Given the description of an element on the screen output the (x, y) to click on. 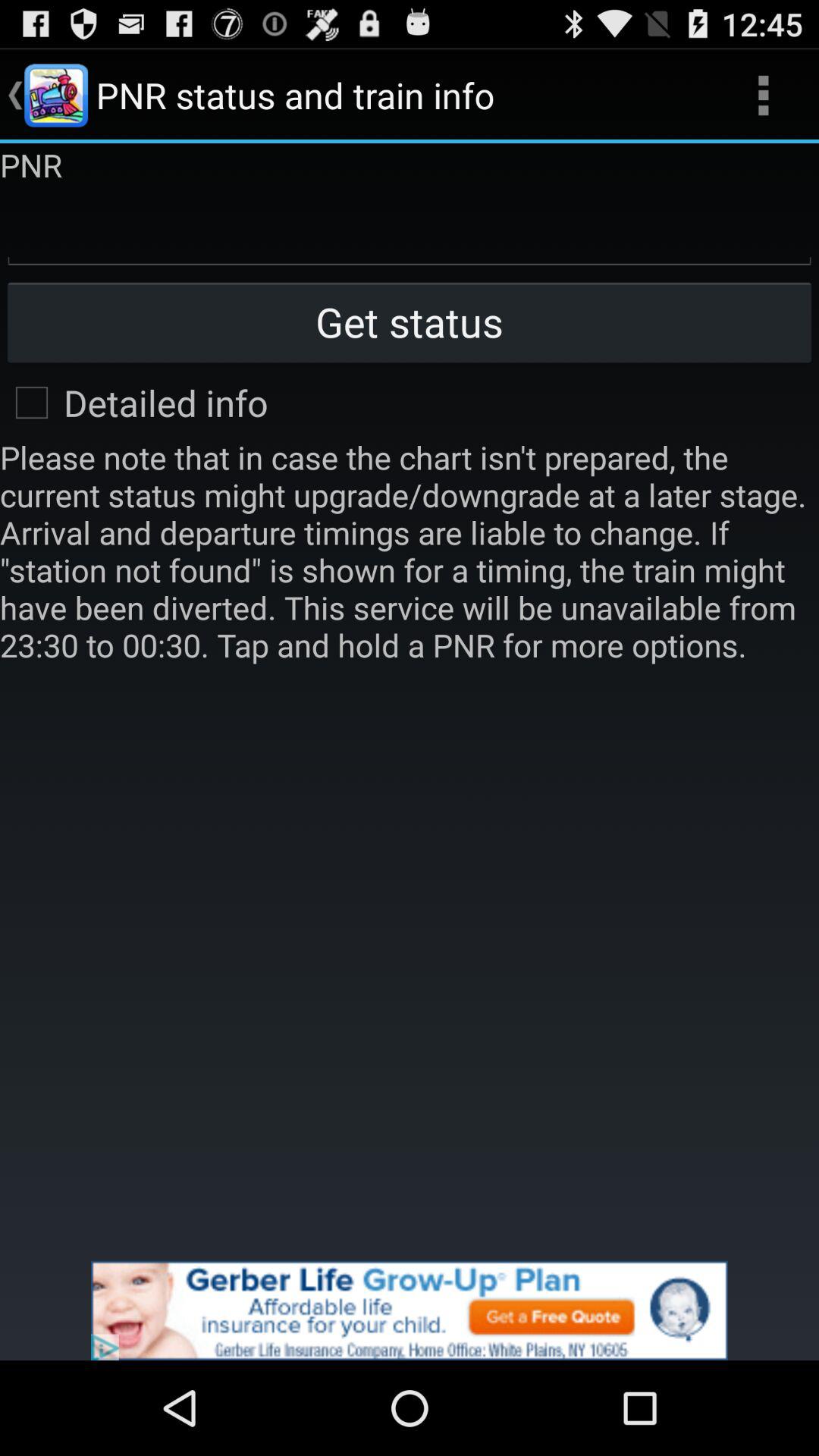
open advertisement (409, 1310)
